Given the description of an element on the screen output the (x, y) to click on. 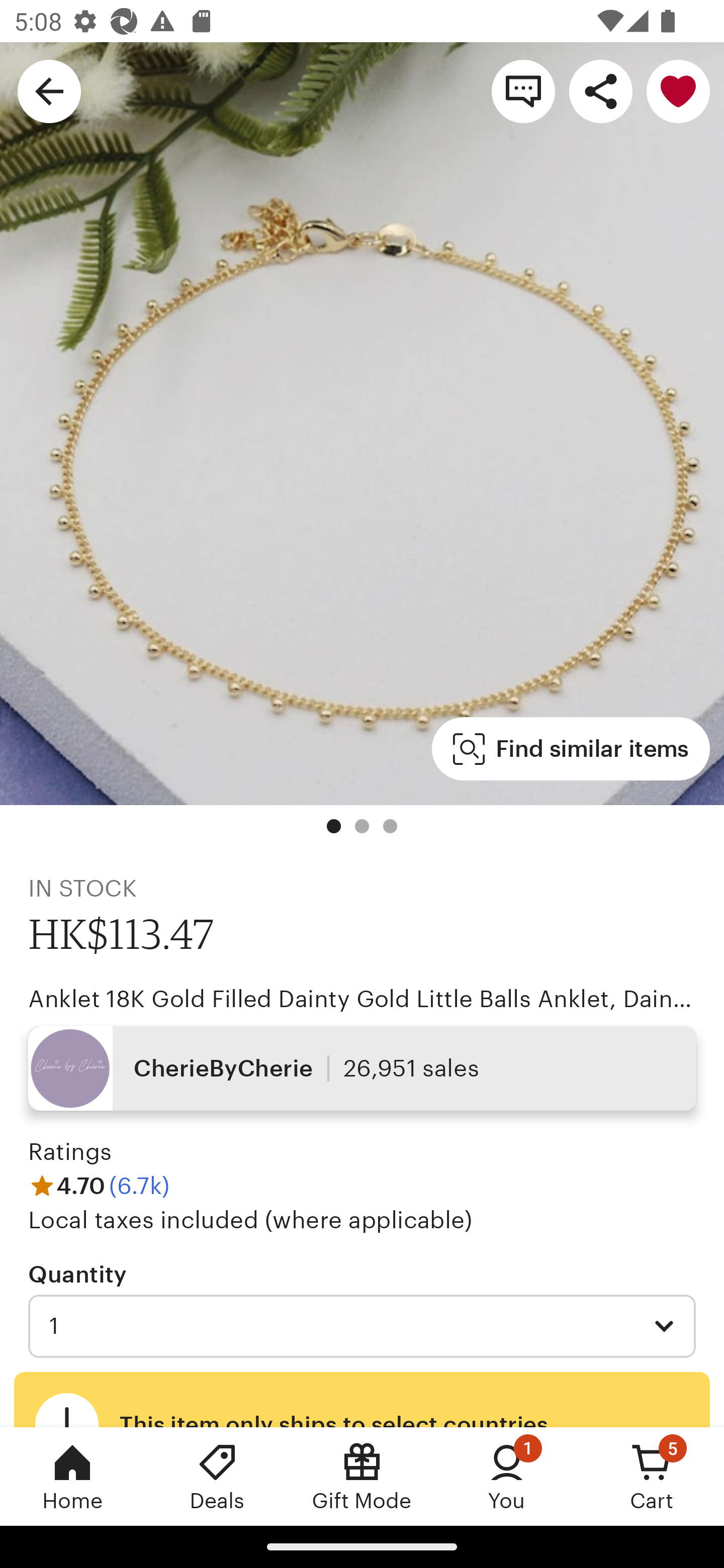
Navigate up (49, 90)
Contact shop (523, 90)
Share (600, 90)
Find similar items (571, 748)
CherieByCherie 26,951 sales (361, 1067)
Ratings (70, 1151)
4.70 (6.7k) (99, 1185)
Quantity (77, 1273)
1 (361, 1326)
Deals (216, 1475)
Gift Mode (361, 1475)
You, 1 new notification You (506, 1475)
Cart, 5 new notifications Cart (651, 1475)
